Given the description of an element on the screen output the (x, y) to click on. 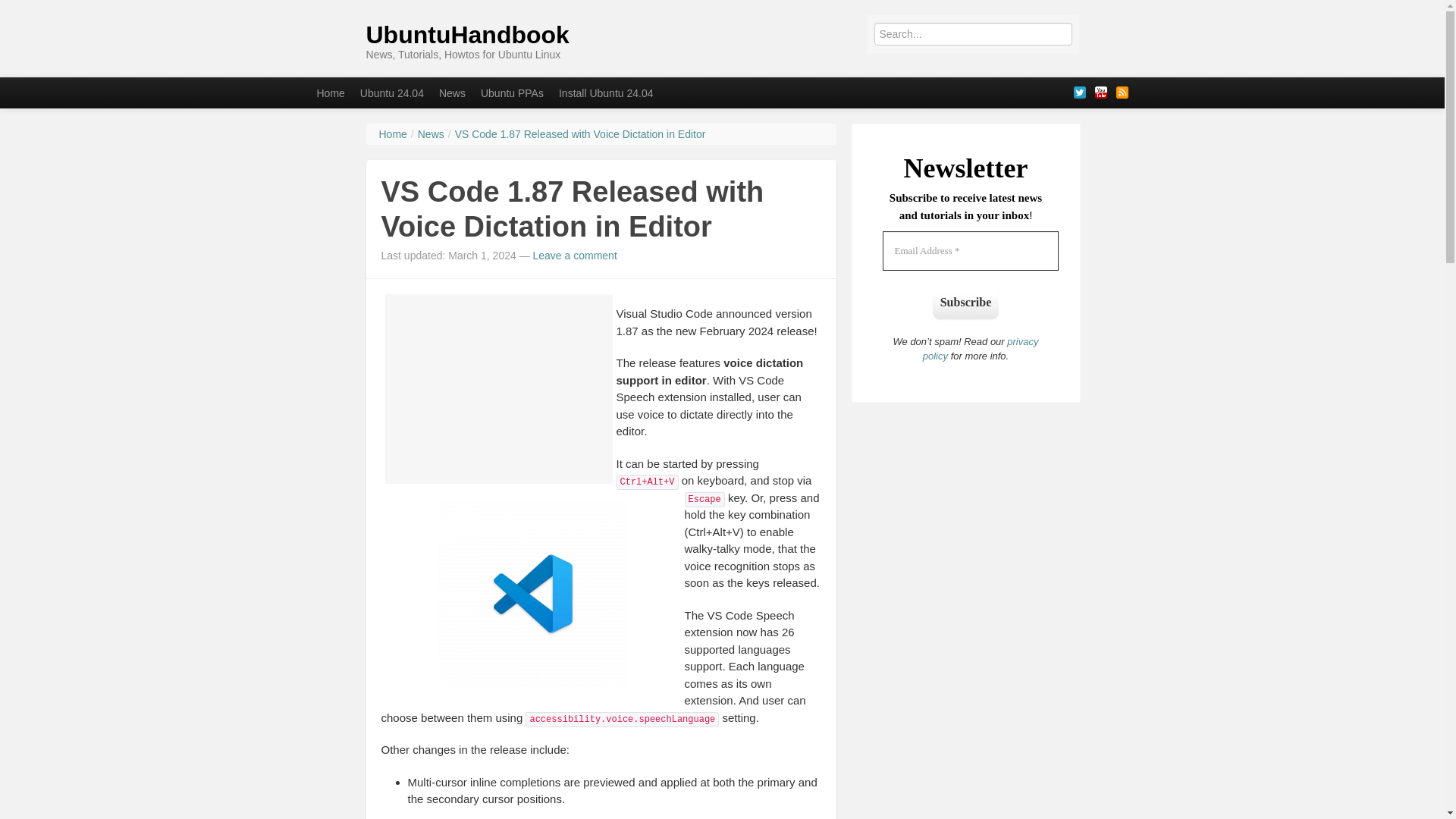
Leave a comment (574, 255)
Ubuntu PPAs (512, 92)
News (430, 133)
Subscribe (965, 301)
Home (330, 92)
Home (330, 92)
Ubuntu PPAs (512, 92)
Email Address (970, 250)
Ubuntu 24.04 (391, 92)
News (451, 92)
News (451, 92)
VS Code 1.87 Released with Voice Dictation in Editor (580, 133)
Home (392, 133)
Install Ubuntu 24.04 (606, 92)
UbuntuHandbook (467, 34)
